Given the description of an element on the screen output the (x, y) to click on. 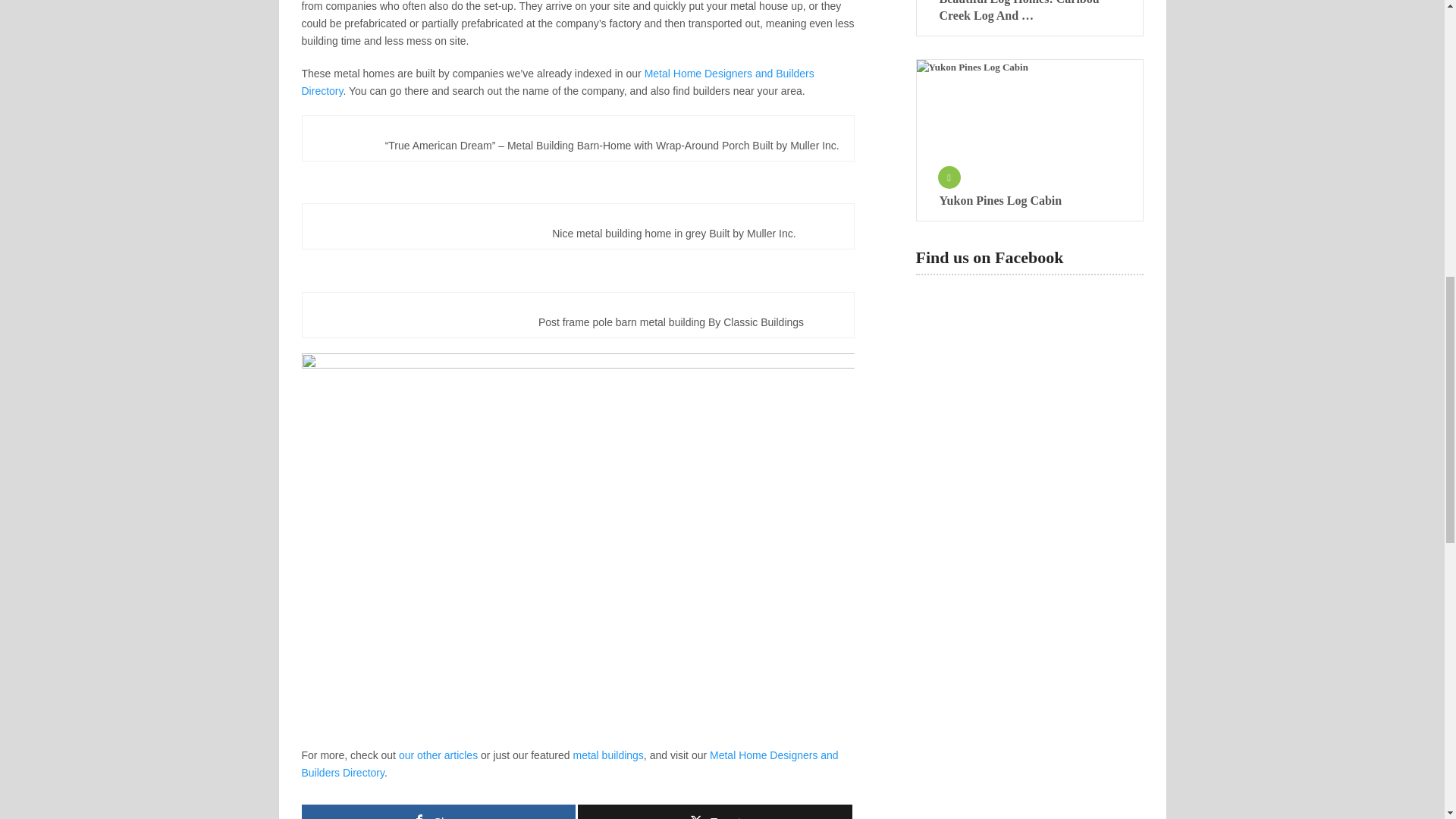
Yukon Pines Log Cabin (1029, 200)
our other articles (437, 755)
Beautiful Log Homes: Caribou Creek Log And Timber (1029, 12)
Yukon Pines Log Cabin (1028, 118)
Metal Home Designers and Builders Directory (569, 763)
Metal Home Designers and Builders Directory (557, 82)
metal buildings (607, 755)
Yukon Pines Log Cabin (1029, 200)
Tweet (714, 811)
Share (438, 811)
